Given the description of an element on the screen output the (x, y) to click on. 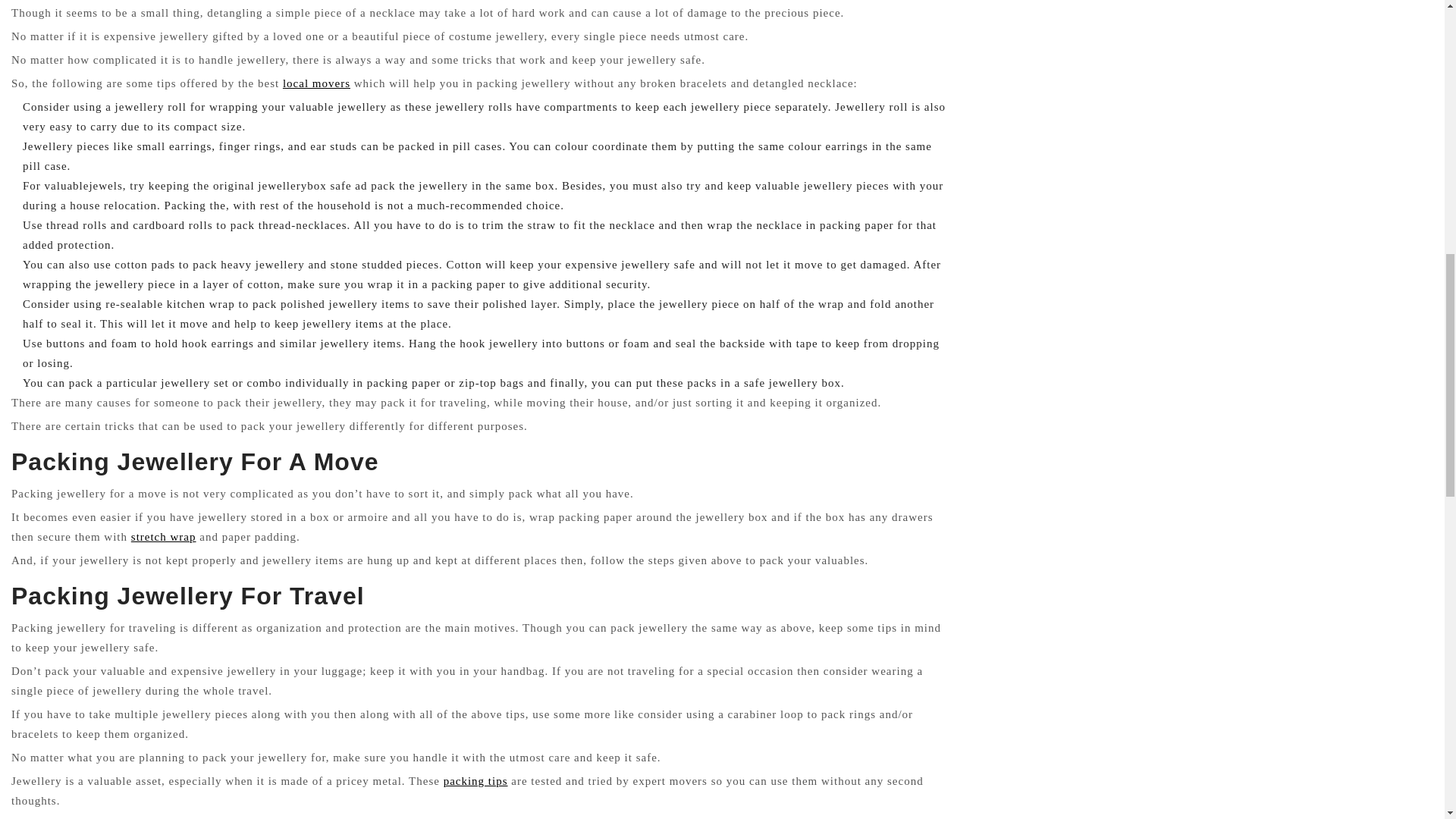
local movers (316, 82)
stretch wrap (163, 536)
packing tips (476, 780)
